Given the description of an element on the screen output the (x, y) to click on. 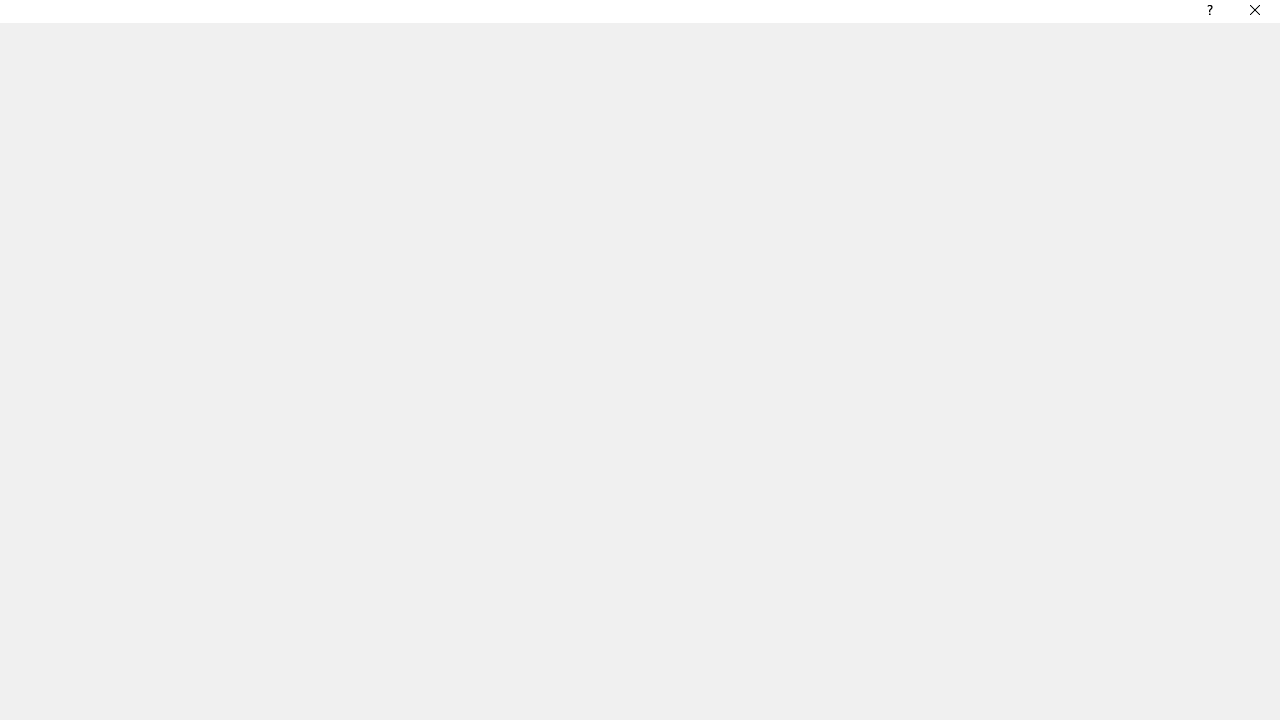
Context help (1208, 14)
